Given the description of an element on the screen output the (x, y) to click on. 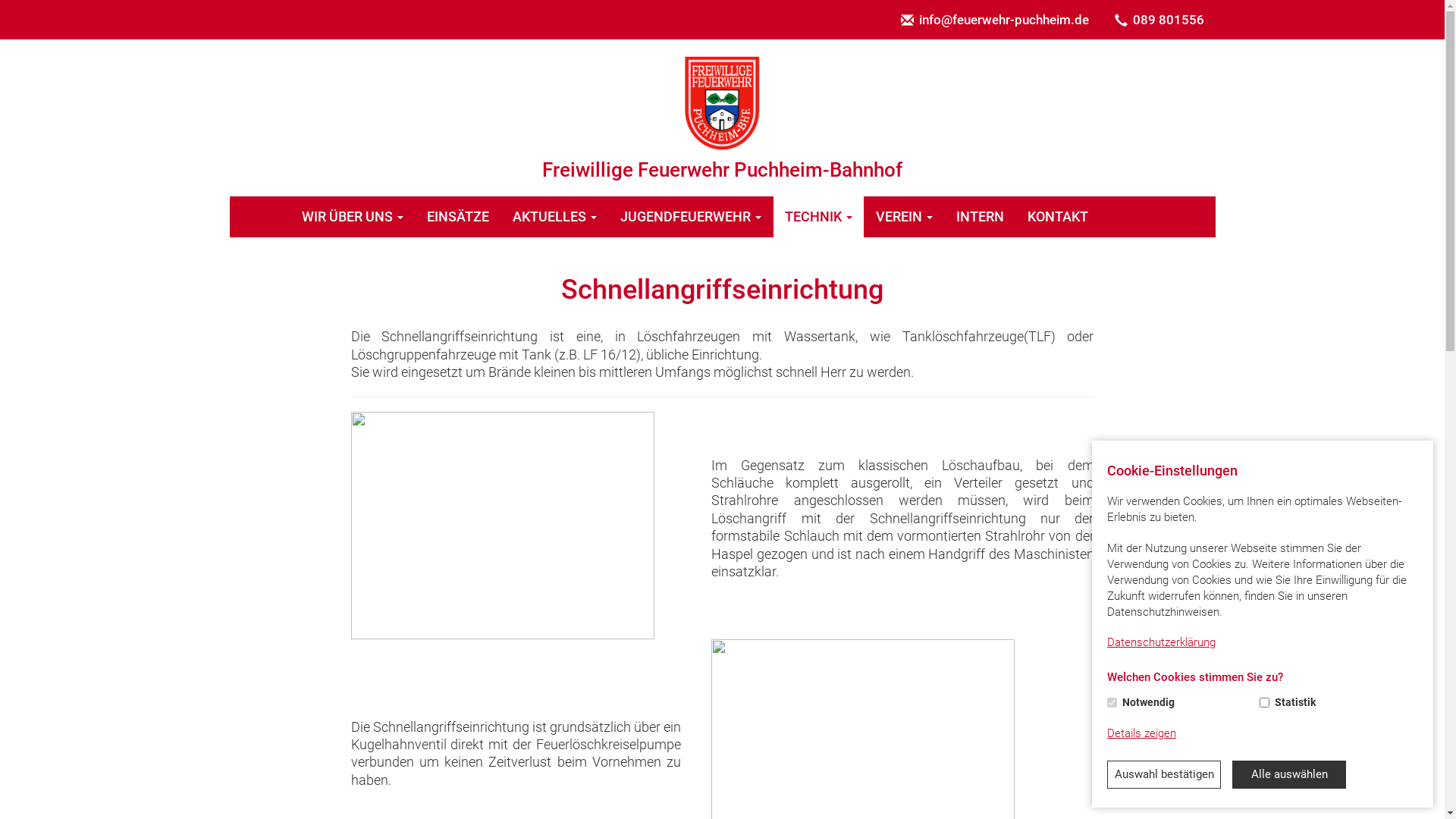
TECHNIK Element type: text (818, 216)
AKTUELLES Element type: text (554, 216)
info@feuerwehr-puchheim.de Element type: text (993, 19)
KONTAKT Element type: text (1058, 216)
INTERN Element type: text (980, 216)
Freiwillige Feuerwehr Puchheim-Bahnhof Element type: text (721, 117)
Details zeigen Element type: text (1141, 733)
VEREIN Element type: text (904, 216)
089 801556 Element type: text (1158, 19)
JUGENDFEUERWEHR Element type: text (690, 216)
Freiwillige Feuerwehr Puchheim-Bahnhof Element type: hover (722, 102)
